Given the description of an element on the screen output the (x, y) to click on. 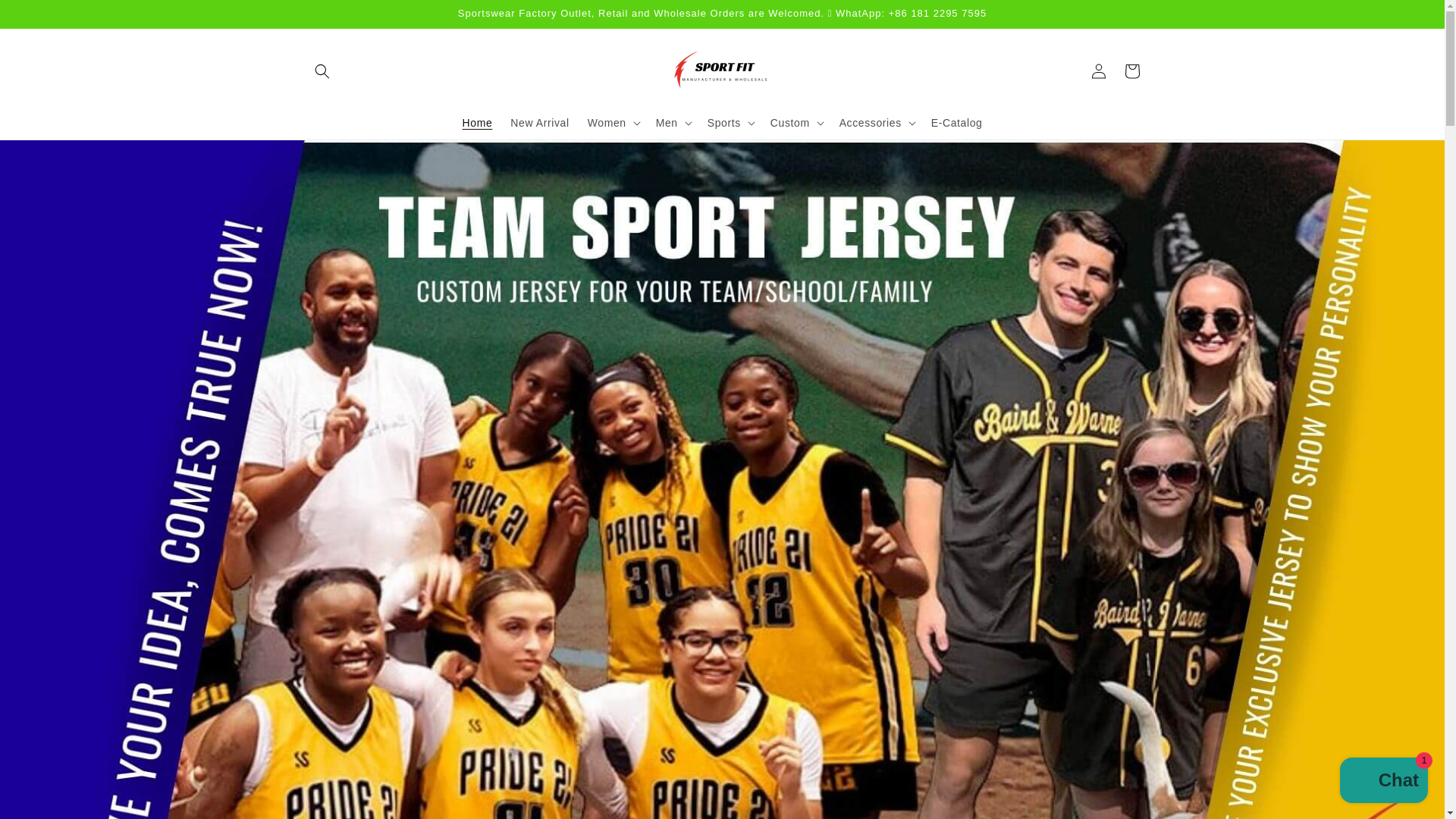
Shopify online store chat (1383, 781)
Skip to content (45, 17)
